Given the description of an element on the screen output the (x, y) to click on. 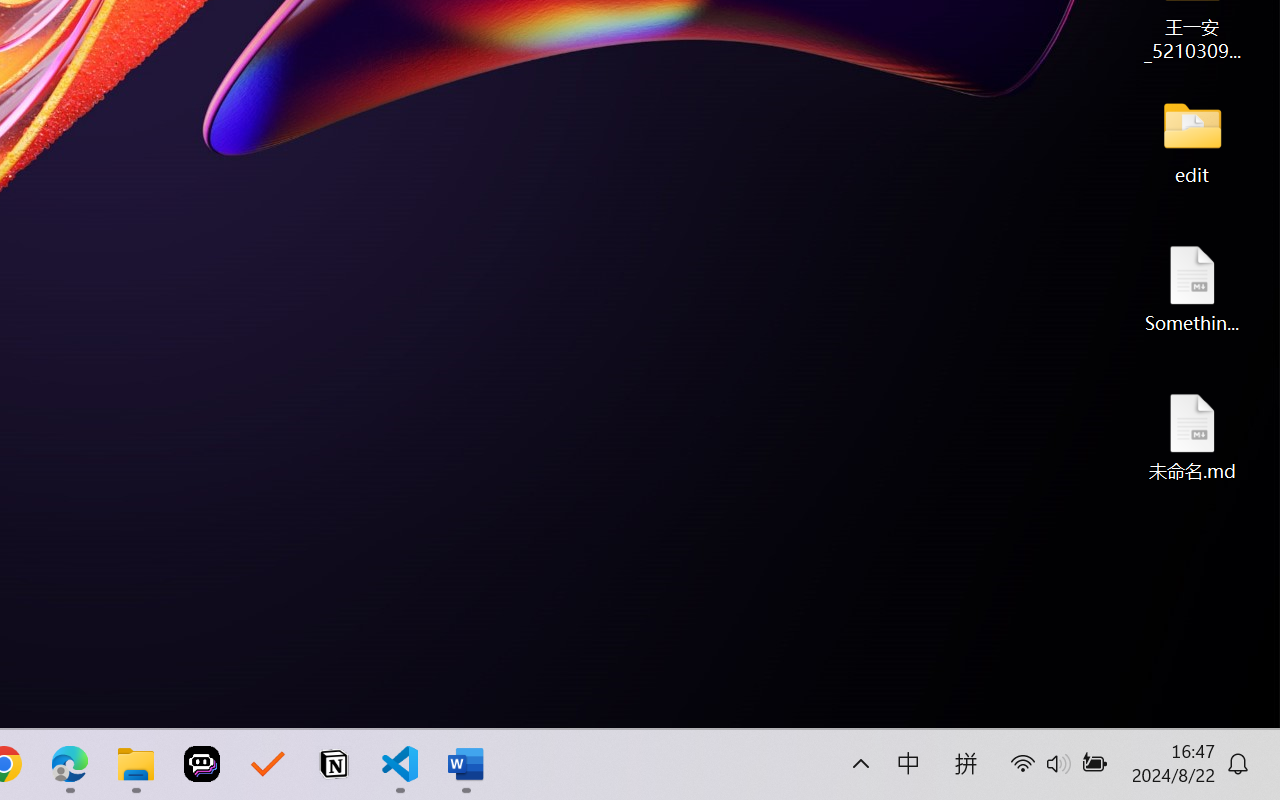
edit (1192, 140)
Something.md (1192, 288)
